Given the description of an element on the screen output the (x, y) to click on. 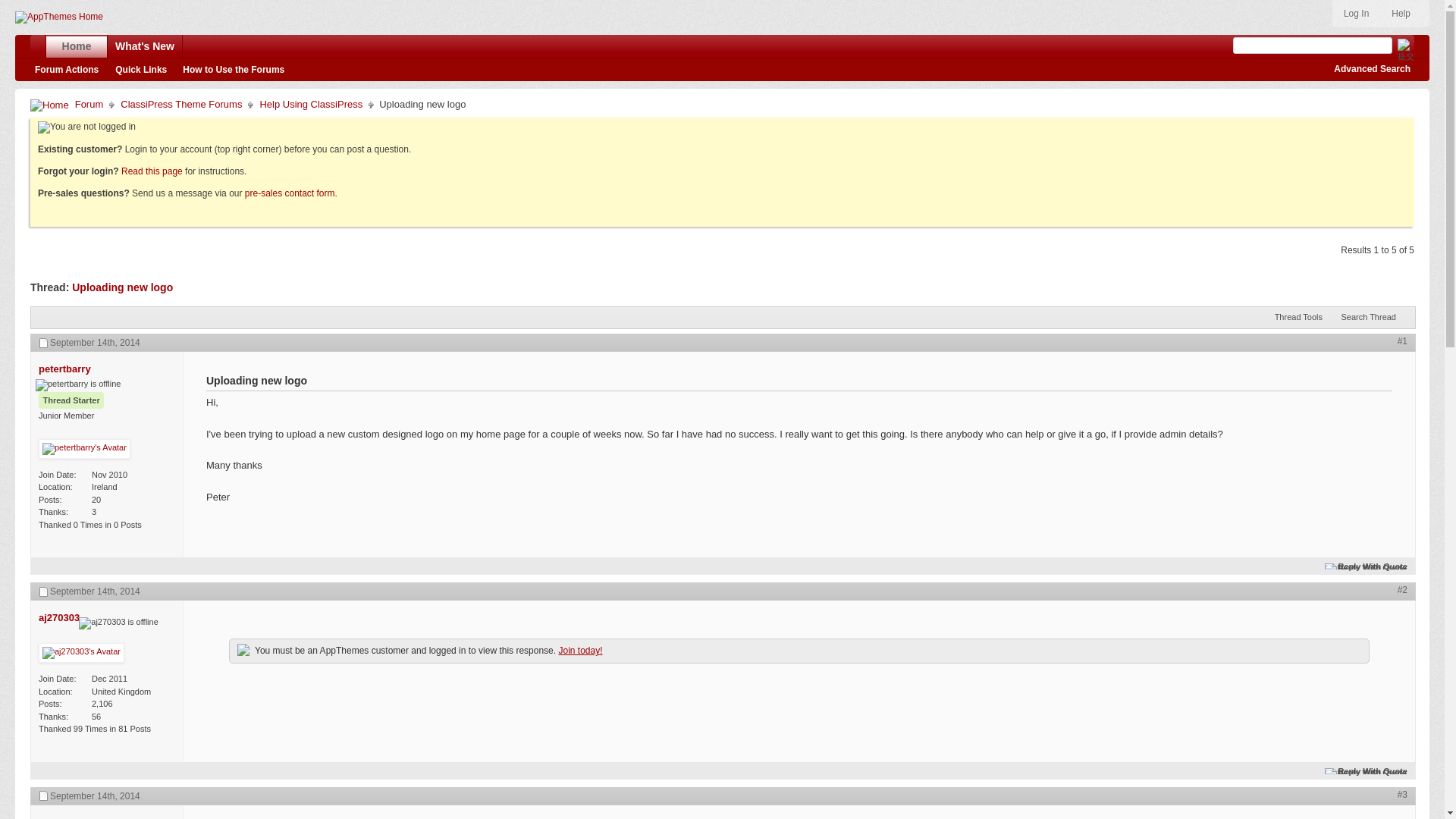
You are not logged in (86, 127)
Thread Tools (1302, 317)
petertbarry is offline (64, 817)
Search Thread (1372, 317)
How to Use the Forums (233, 69)
Advanced Search (1371, 68)
Home (49, 104)
aj270303 is offline (117, 623)
petertbarry is offline (64, 368)
Log In (1355, 13)
